Given the description of an element on the screen output the (x, y) to click on. 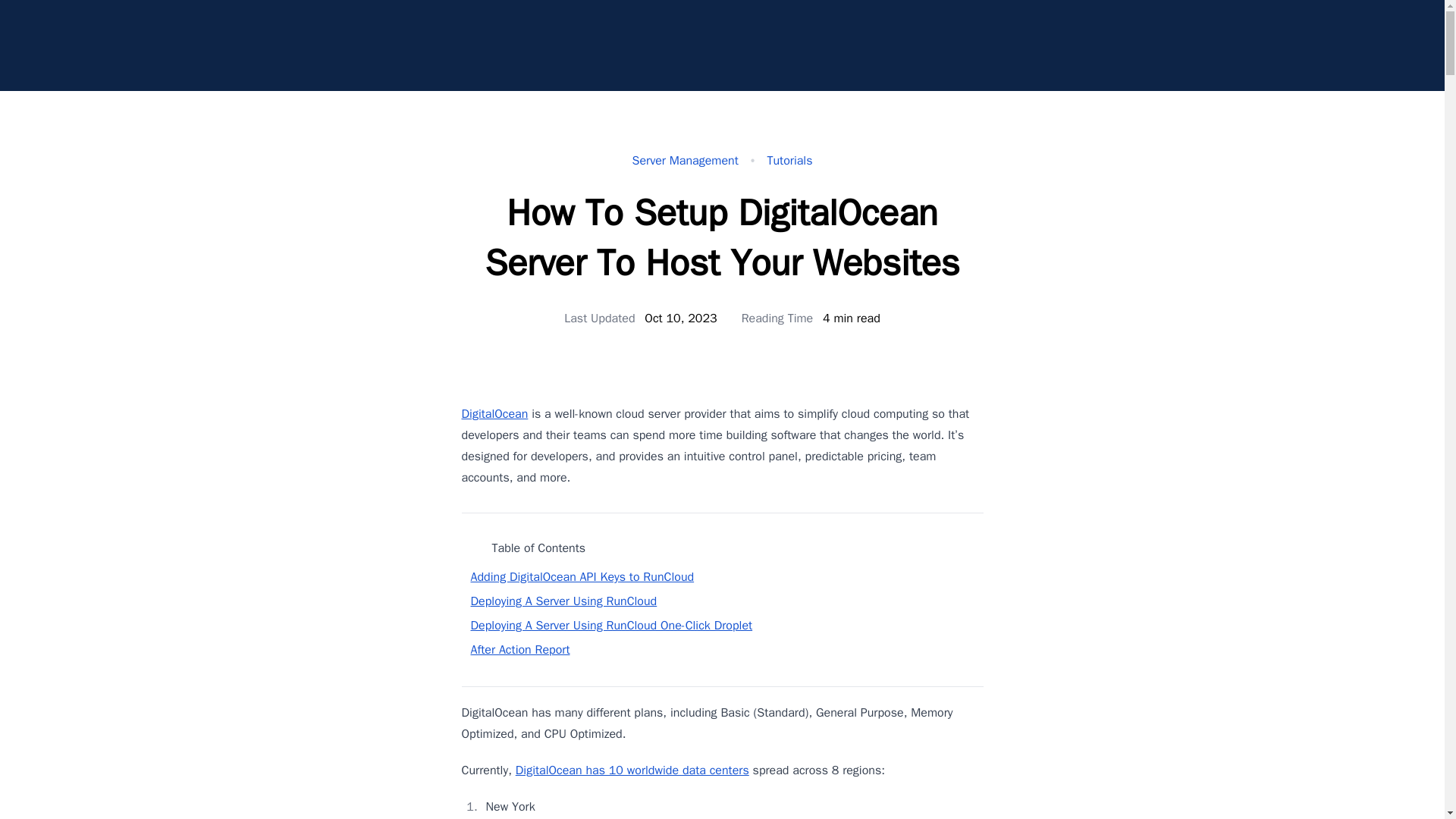
Deploying A Server Using RunCloud One-Click Droplet (611, 625)
Deploying A Server Using RunCloud (563, 600)
Adding DigitalOcean API Keys to RunCloud (582, 576)
DigitalOcean (494, 413)
After Action Report (519, 649)
DigitalOcean has 10 worldwide data centers (632, 770)
